Given the description of an element on the screen output the (x, y) to click on. 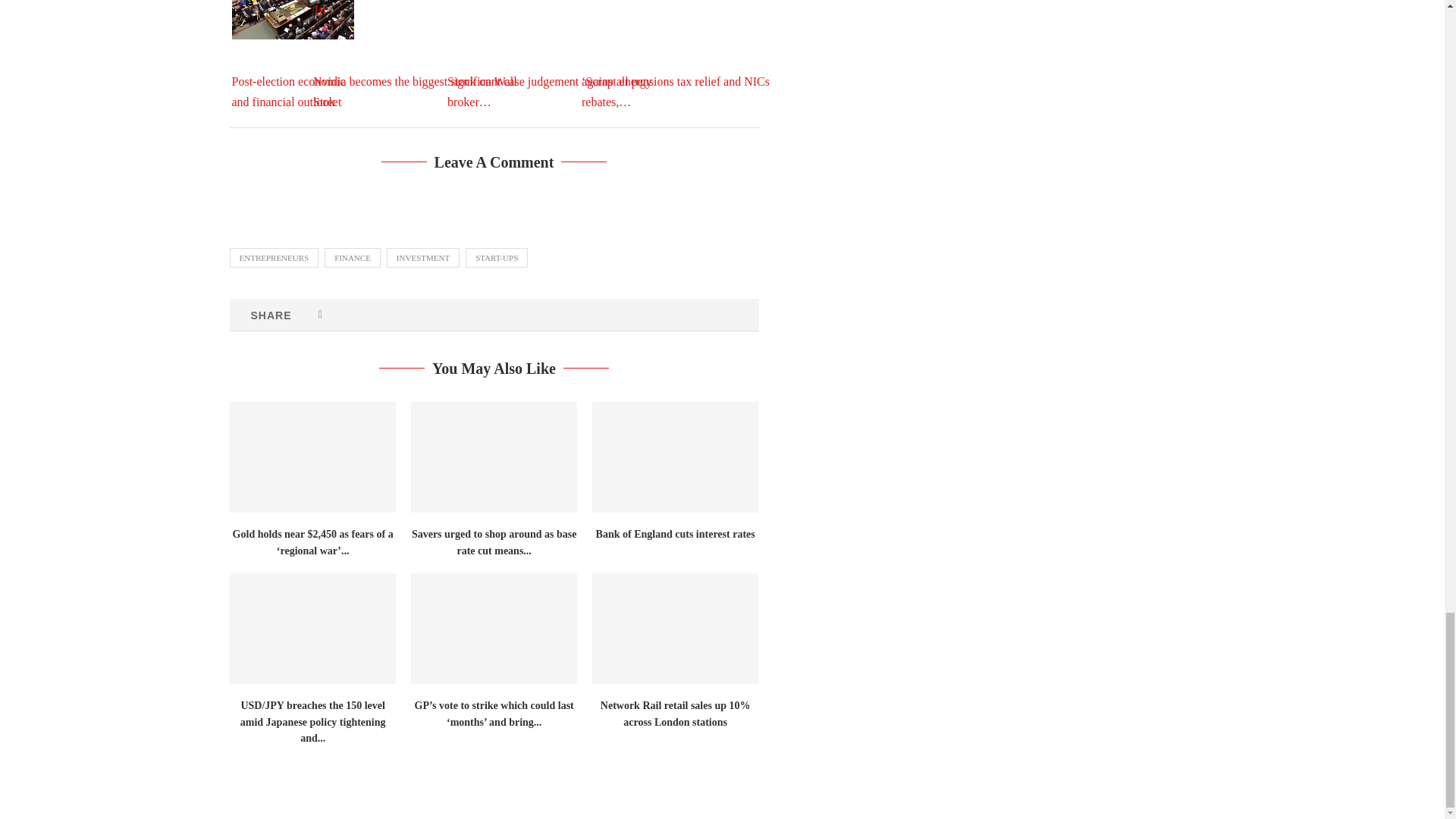
Nvidia becomes the biggest stock on Wall Street (426, 54)
Bank of England cuts interest rates (675, 457)
Post-election economic and financial outlook (292, 19)
